Given the description of an element on the screen output the (x, y) to click on. 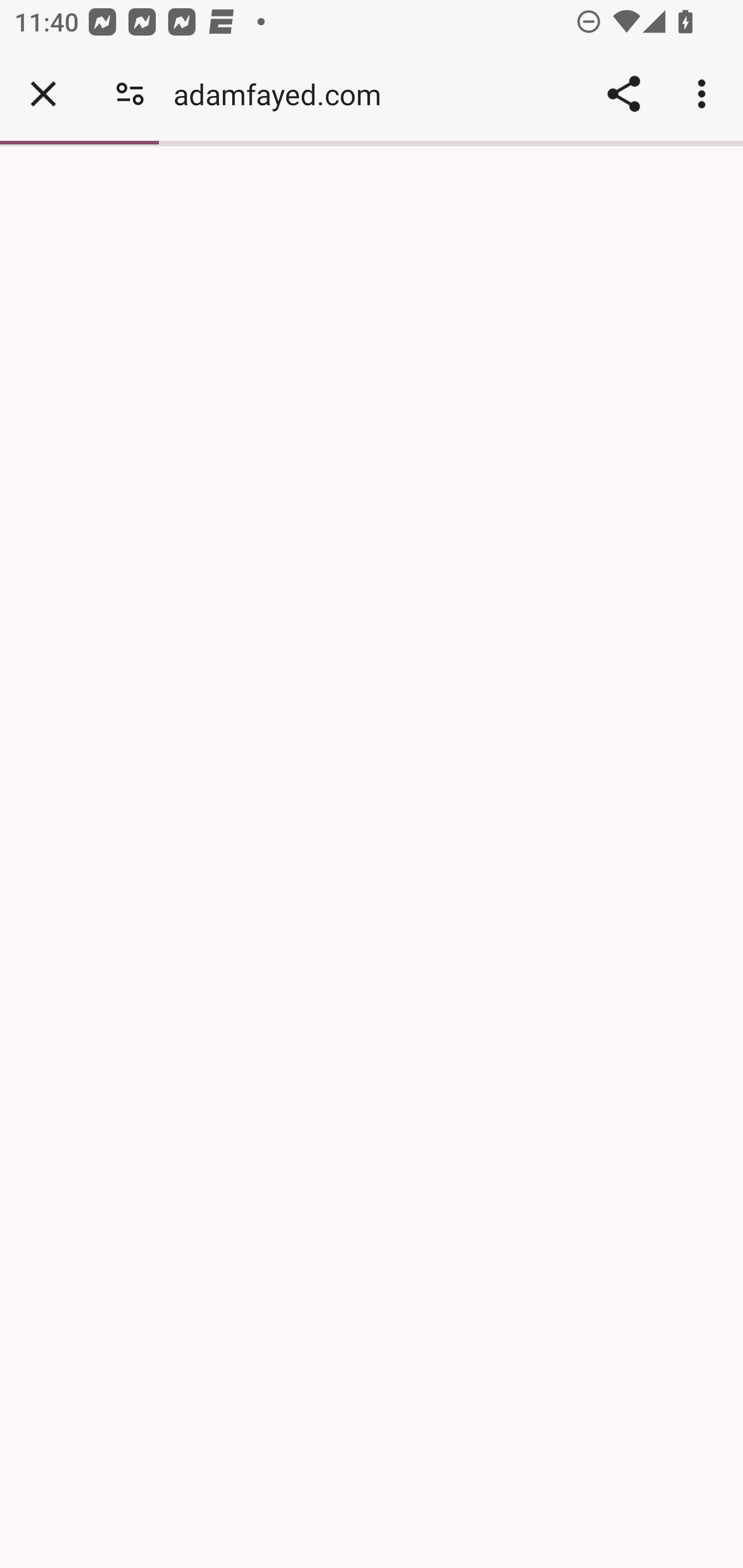
Close tab (43, 93)
Share (623, 93)
Customize and control Google Chrome (705, 93)
Connection is secure (129, 93)
adamfayed.com (284, 93)
